Given the description of an element on the screen output the (x, y) to click on. 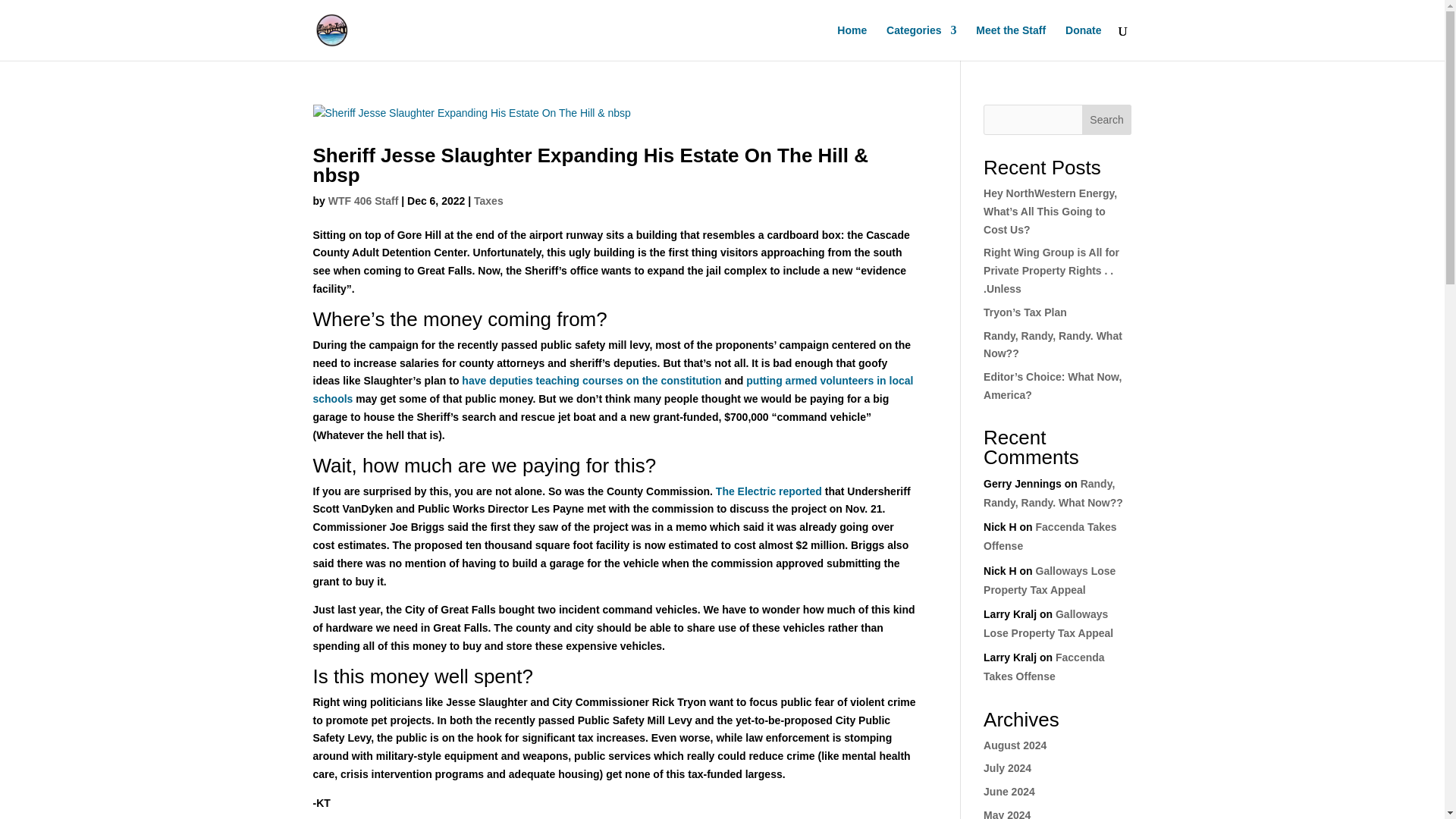
have deputies teaching courses on the constitution (592, 380)
July 2024 (1007, 767)
Randy, Randy, Randy. What Now?? (1053, 492)
May 2024 (1007, 814)
WTF 406 Staff (363, 200)
The Electric reported (769, 491)
Galloways Lose Property Tax Appeal (1048, 623)
Taxes (488, 200)
Donate (1082, 42)
Faccenda Takes Offense (1044, 666)
